Given the description of an element on the screen output the (x, y) to click on. 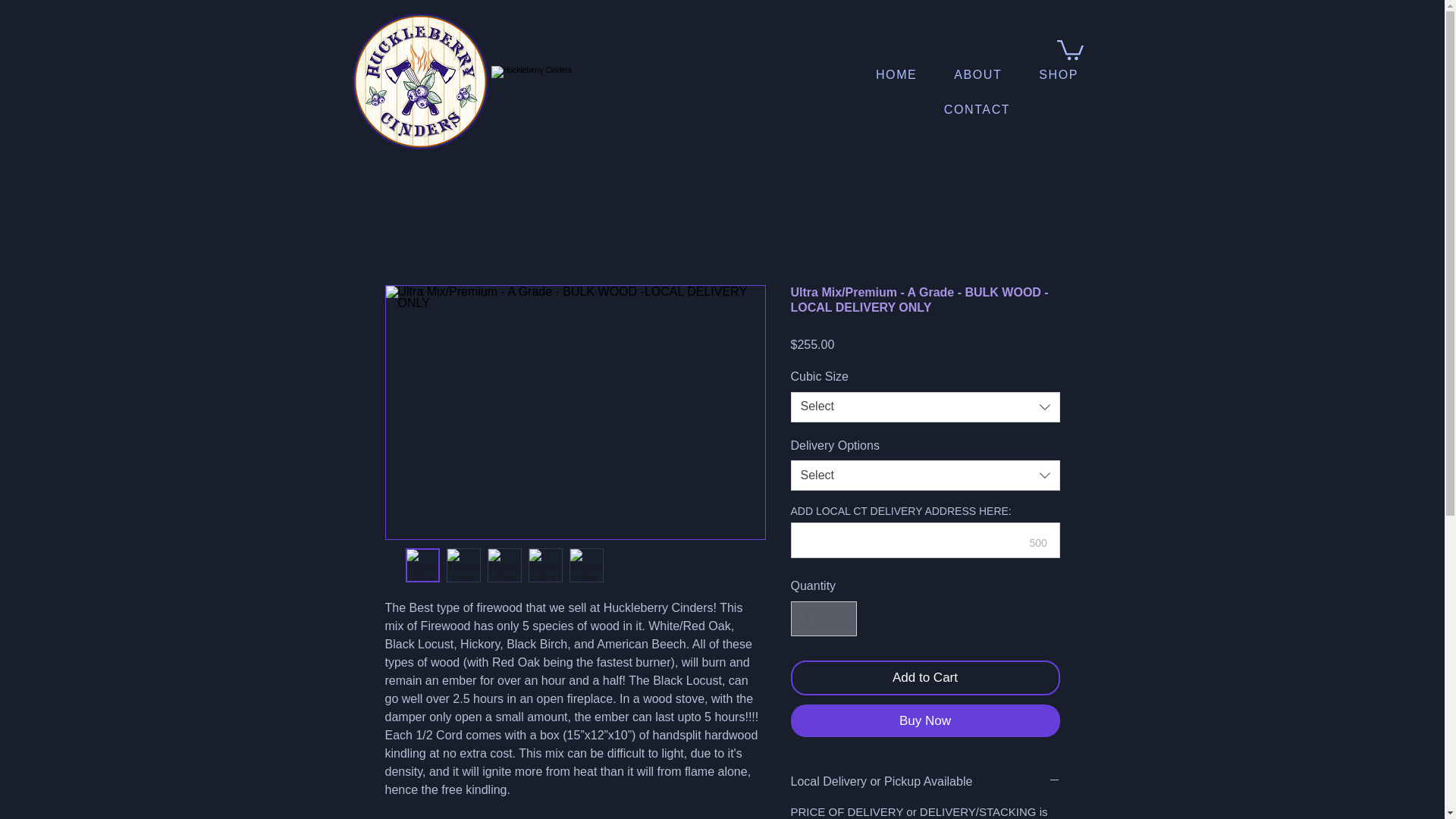
SHOP (1058, 74)
Add to Cart (924, 677)
Select (924, 407)
1 (823, 618)
Local Delivery or Pickup Available (924, 781)
Select (924, 475)
HOME (895, 74)
Buy Now (924, 720)
